Given the description of an element on the screen output the (x, y) to click on. 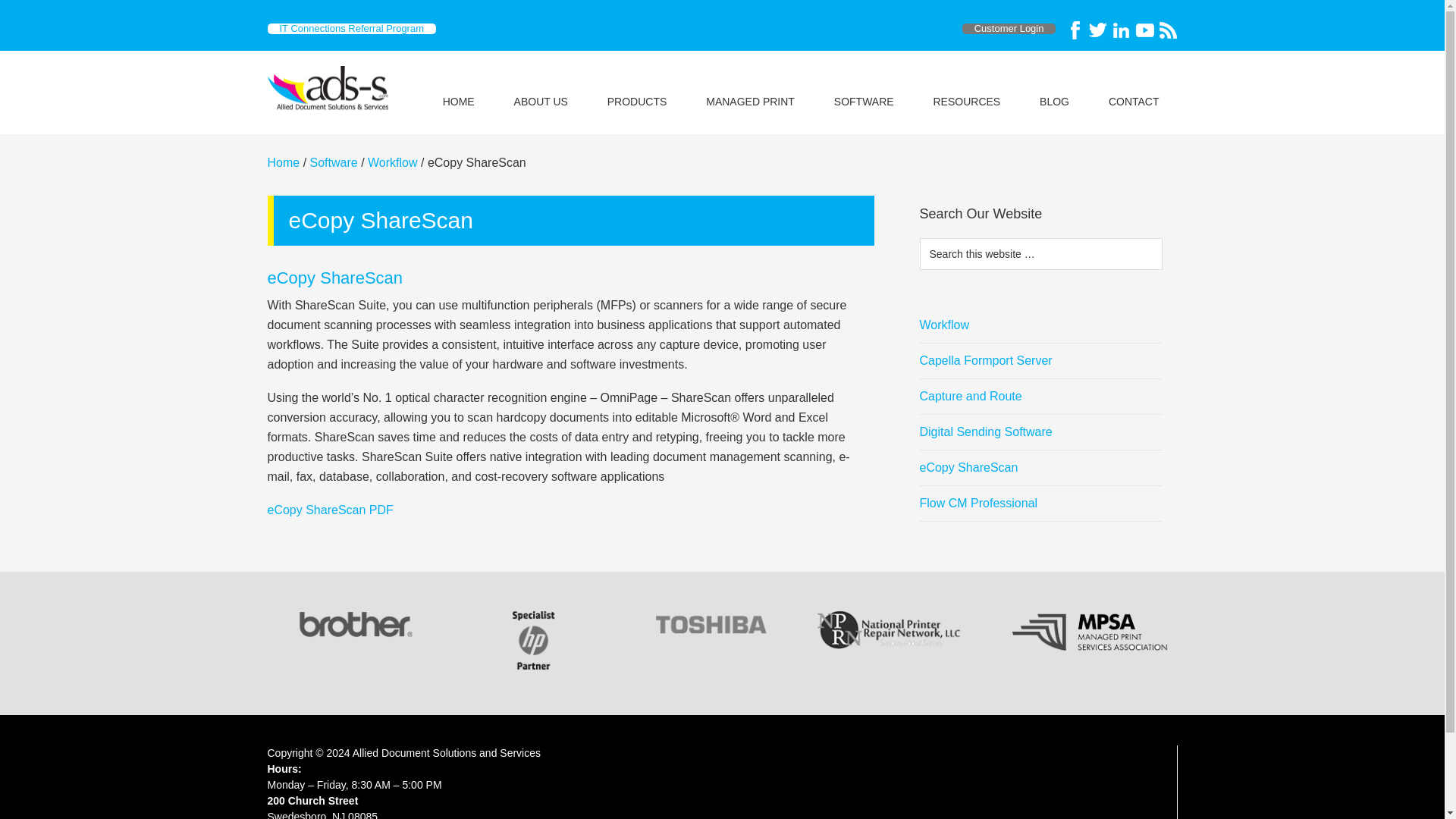
PRODUCTS (637, 86)
Customer Login (1009, 27)
MANAGED PRINT (749, 86)
ABOUT US (541, 86)
SOFTWARE (863, 86)
HOME (459, 86)
Allied Document Solutions and Services (331, 88)
IT Connections Referral Program (350, 27)
